Given the description of an element on the screen output the (x, y) to click on. 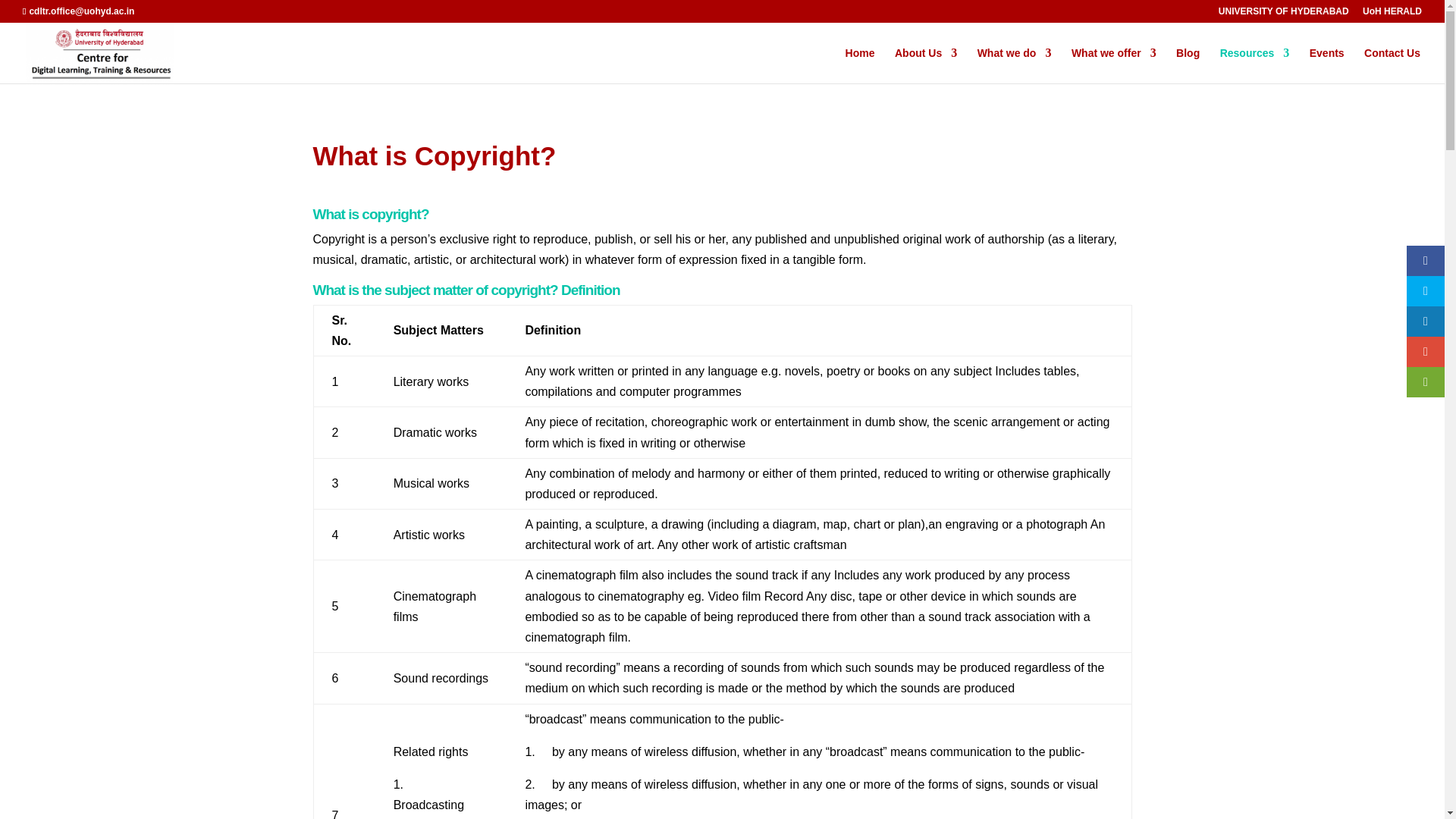
Definition (590, 289)
Contact Us (1392, 65)
UoH HERALD (1392, 14)
UNIVERSITY OF HYDERABAD (1283, 14)
Events (1325, 65)
Resources (1255, 65)
About Us (925, 65)
What we offer (1113, 65)
What we do (1013, 65)
